Given the description of an element on the screen output the (x, y) to click on. 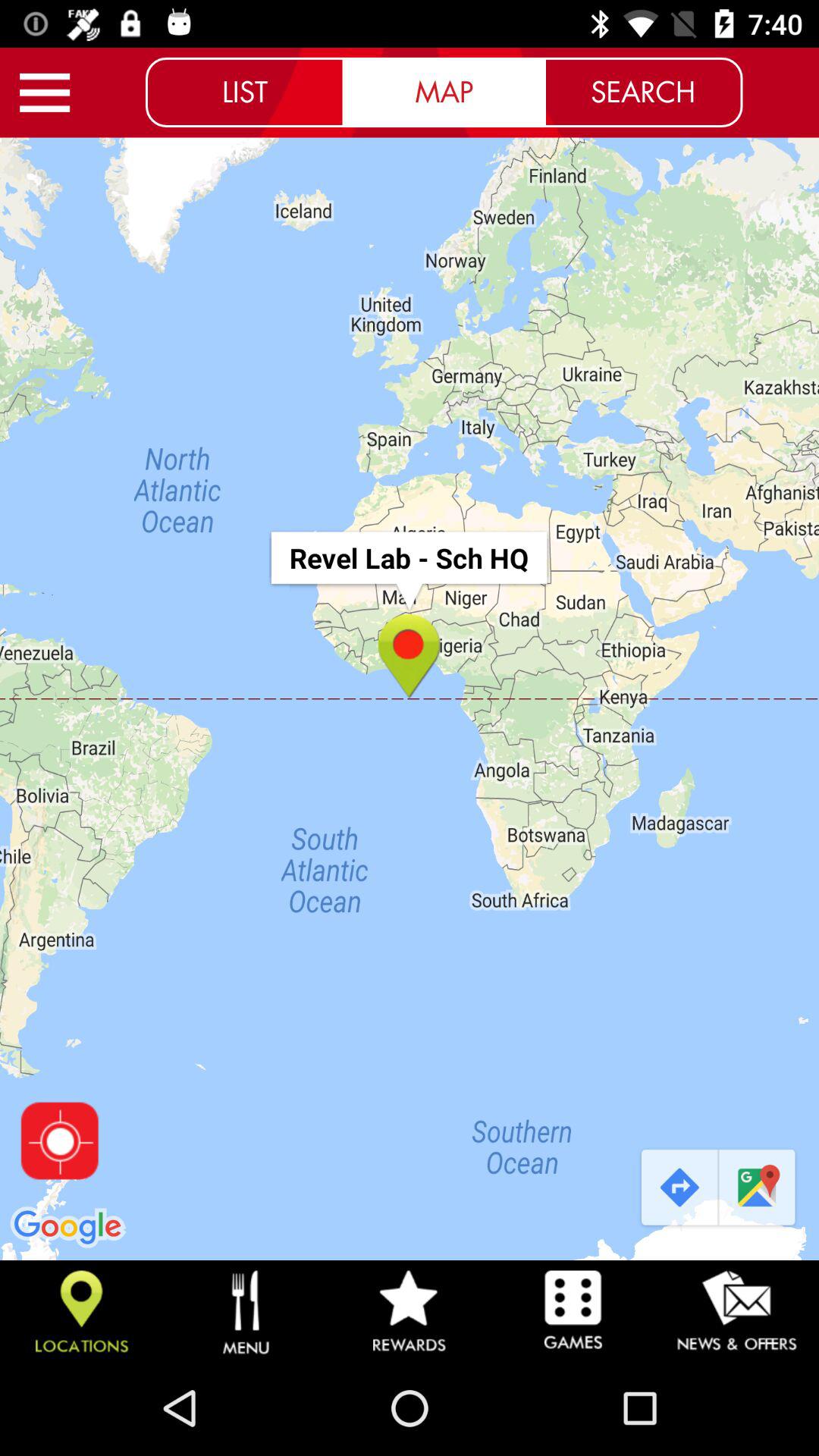
choose the icon to the left of the list icon (44, 92)
